Given the description of an element on the screen output the (x, y) to click on. 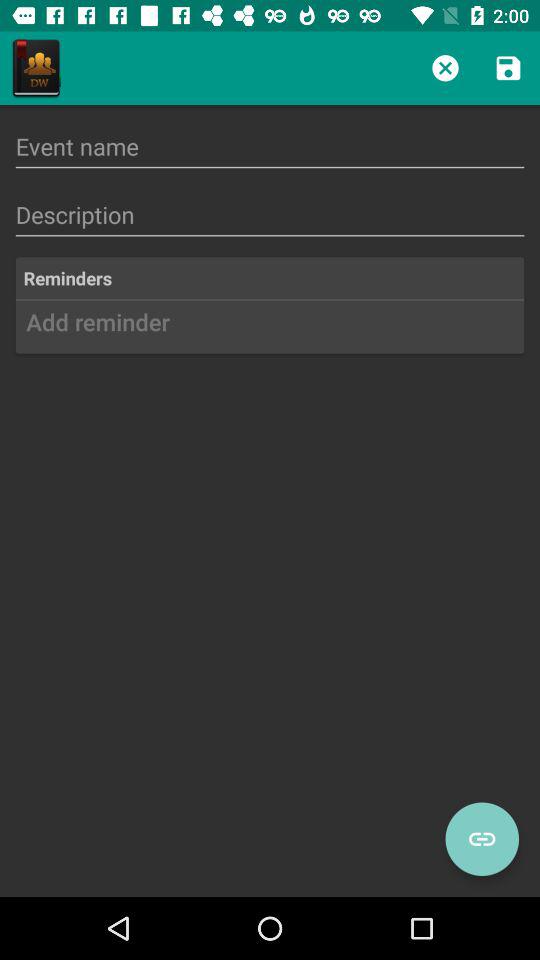
tap the icon at the bottom right corner (482, 839)
